Given the description of an element on the screen output the (x, y) to click on. 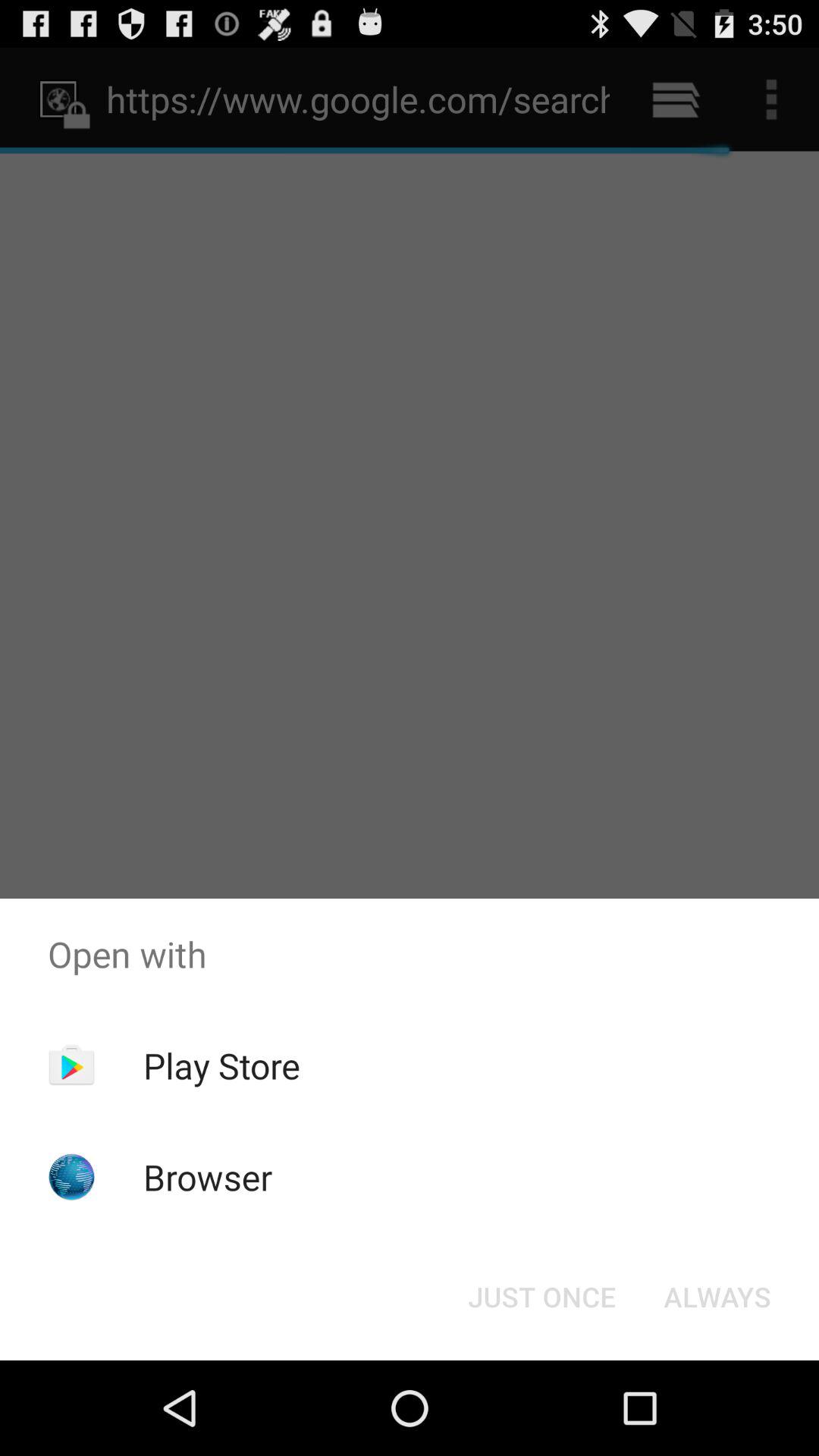
turn on the icon to the right of just once (717, 1296)
